Given the description of an element on the screen output the (x, y) to click on. 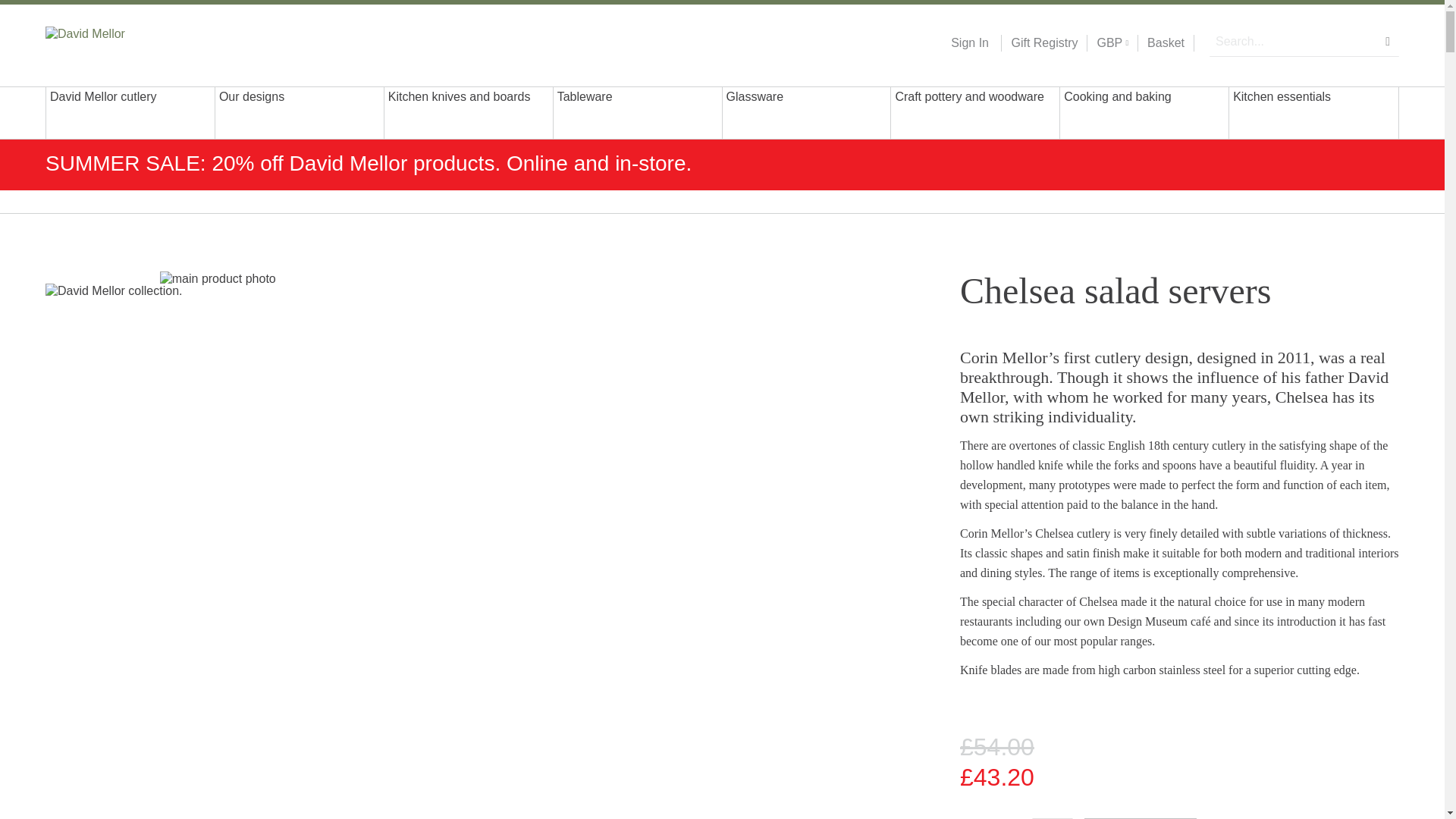
Search (1388, 41)
David Mellor cutlery (130, 112)
Gift Registry (1039, 43)
Search (1388, 41)
Sign In (969, 43)
Qty (1052, 818)
Basket (1166, 43)
1 (1052, 818)
David Mellor (143, 42)
